Given the description of an element on the screen output the (x, y) to click on. 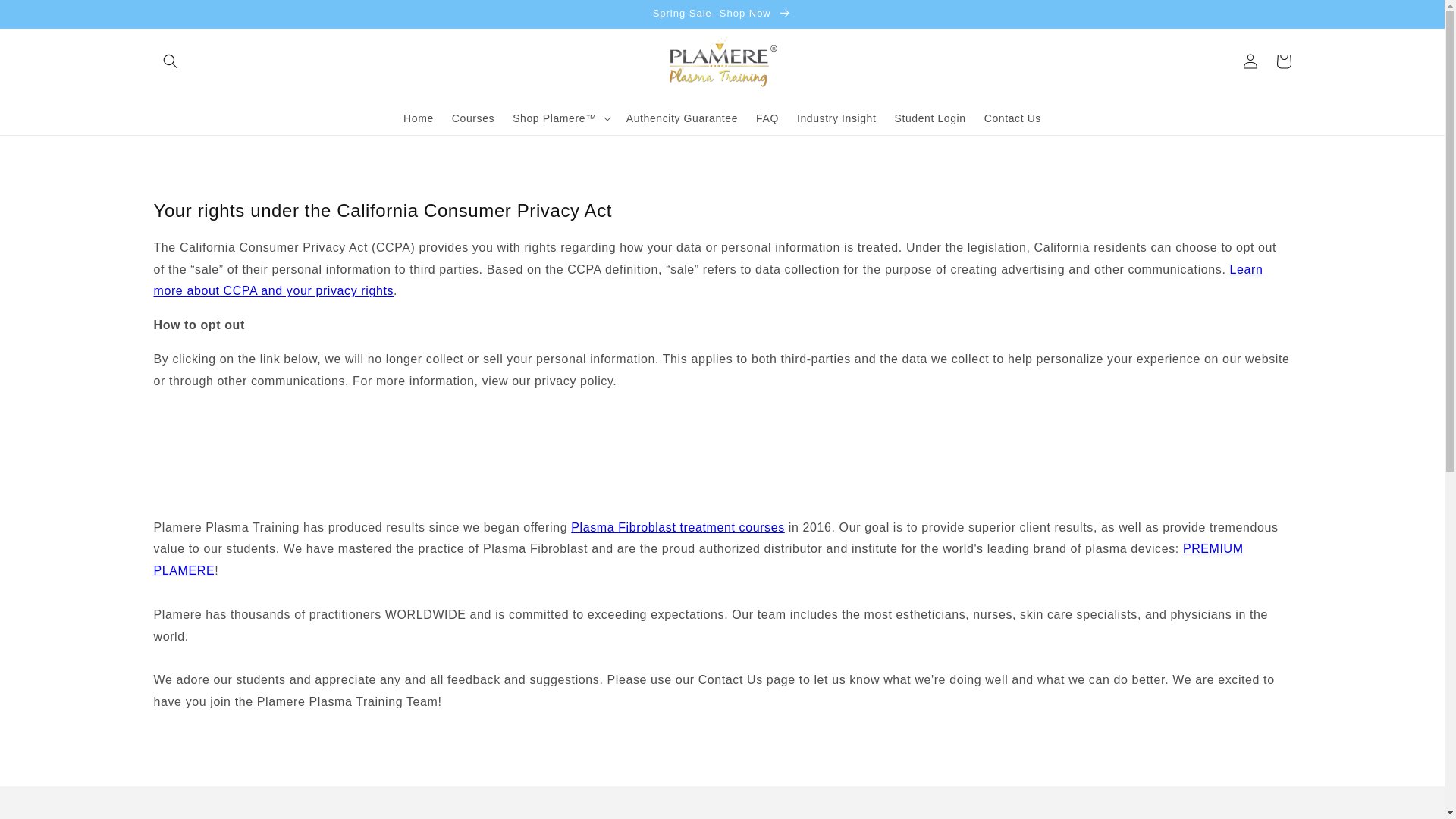
Skip to content (45, 17)
Home (418, 118)
Courses (472, 118)
Plamere Plasma Pen Online Training Course (677, 526)
Authencity Guarantee (681, 118)
